Given the description of an element on the screen output the (x, y) to click on. 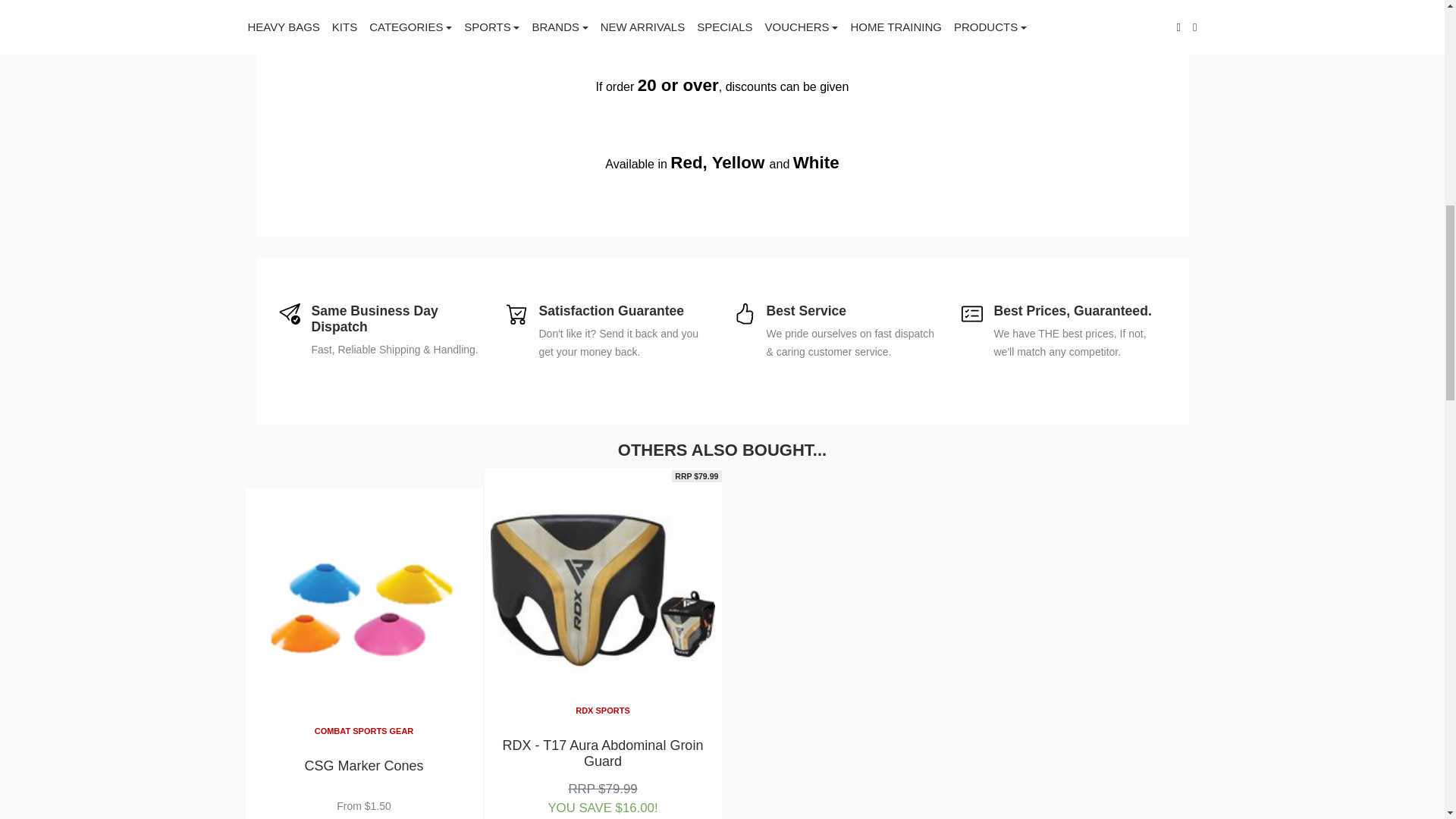
RDX Sports (602, 709)
Combat Sports Gear (363, 730)
